Given the description of an element on the screen output the (x, y) to click on. 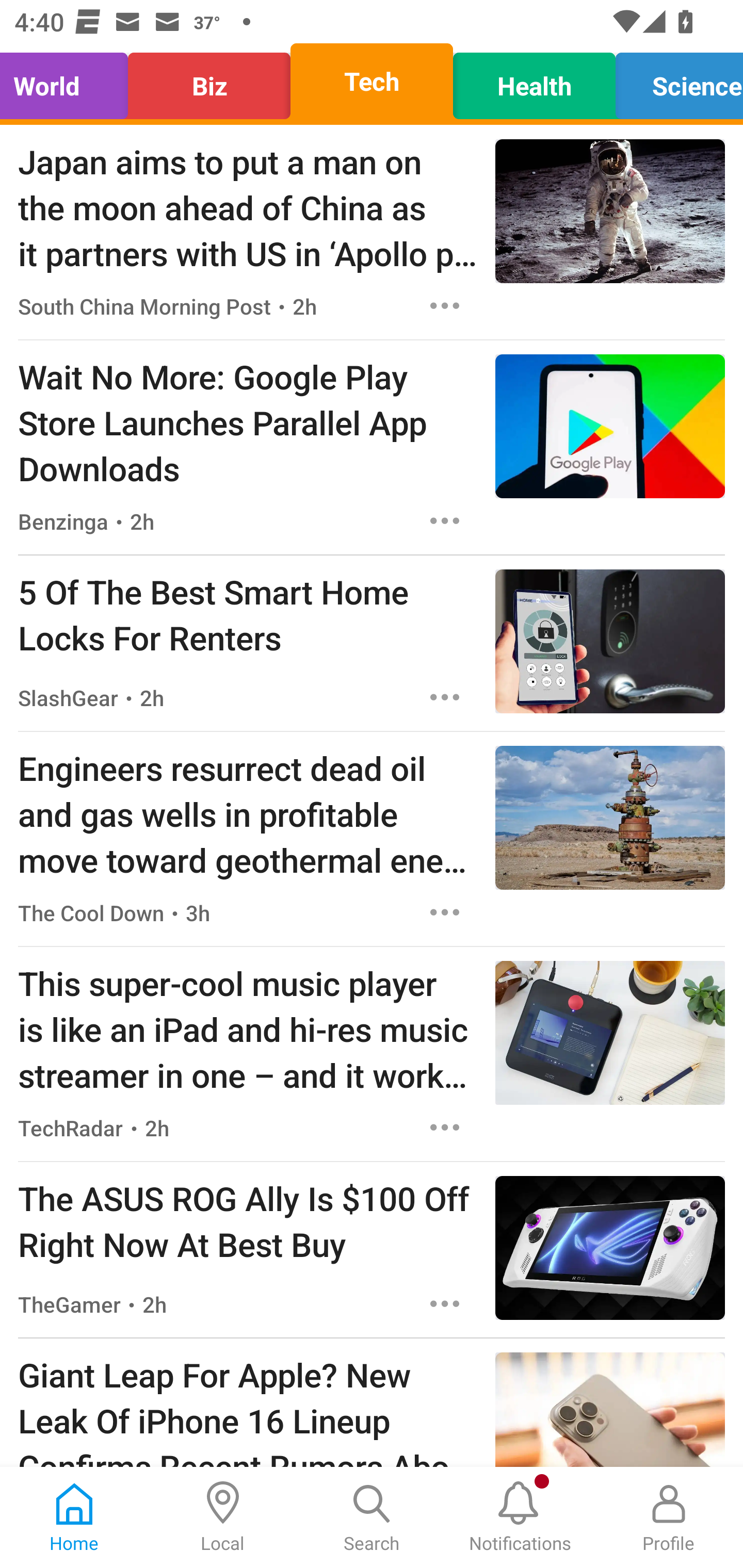
World (69, 81)
Biz (209, 81)
Tech (371, 81)
Health (534, 81)
Science (673, 81)
Options (444, 305)
Options (444, 520)
Options (444, 697)
Options (444, 912)
Options (444, 1127)
Options (444, 1303)
Local (222, 1517)
Search (371, 1517)
Notifications, New notification Notifications (519, 1517)
Profile (668, 1517)
